Given the description of an element on the screen output the (x, y) to click on. 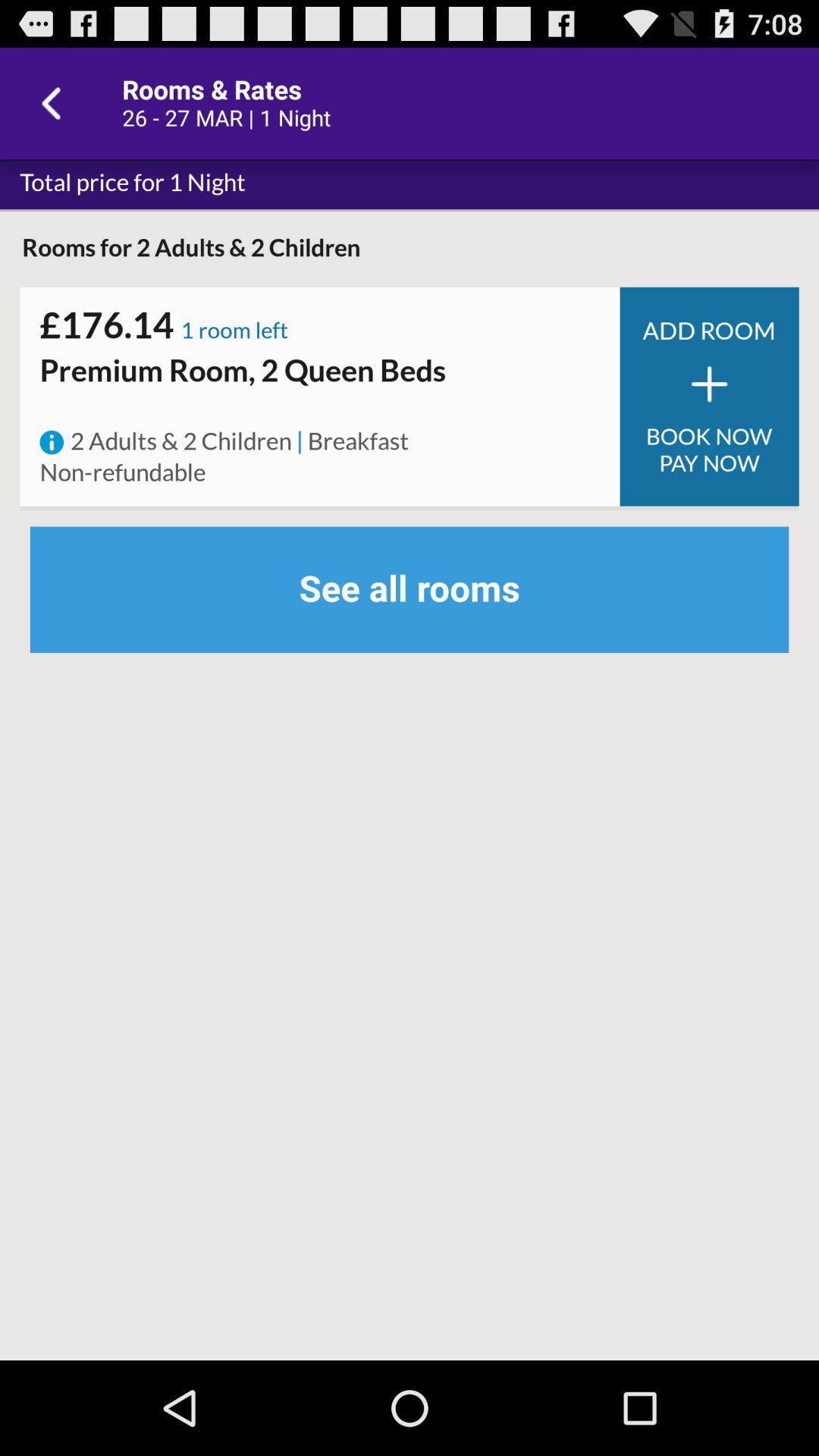
tap the item above the see all rooms icon (708, 450)
